Given the description of an element on the screen output the (x, y) to click on. 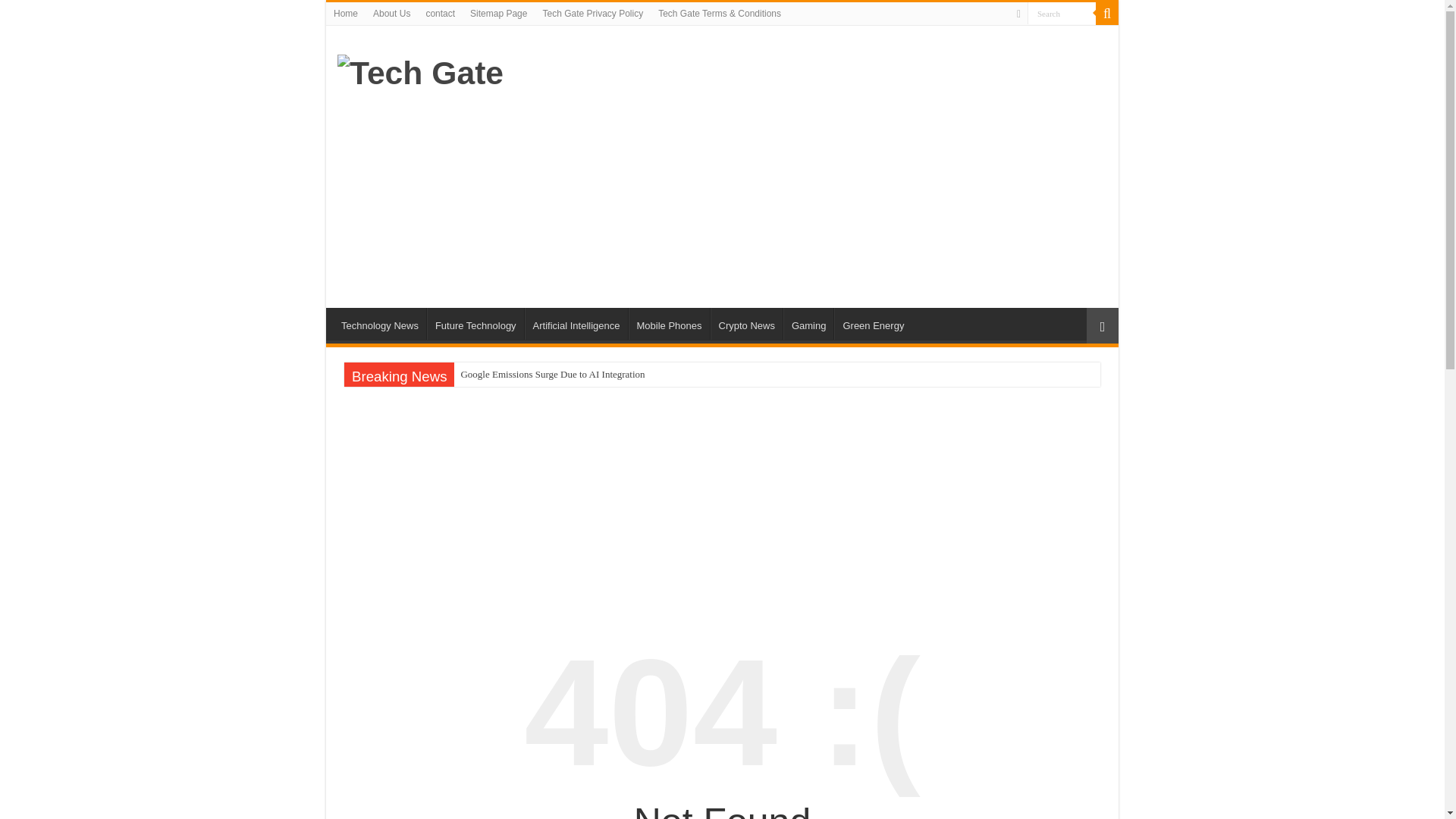
Rss (1018, 13)
Gaming (808, 323)
Technology News (379, 323)
Google Emissions Surge Due to AI Integration (641, 374)
About Us (391, 13)
Tech Gate Privacy Policy (592, 13)
Search (1061, 13)
contact (440, 13)
Search (1107, 13)
Search (1061, 13)
Artificial Intelligence (575, 323)
Search (1061, 13)
Home (345, 13)
Google Emissions Surge Due to AI Integration (641, 374)
Crypto News (745, 323)
